Given the description of an element on the screen output the (x, y) to click on. 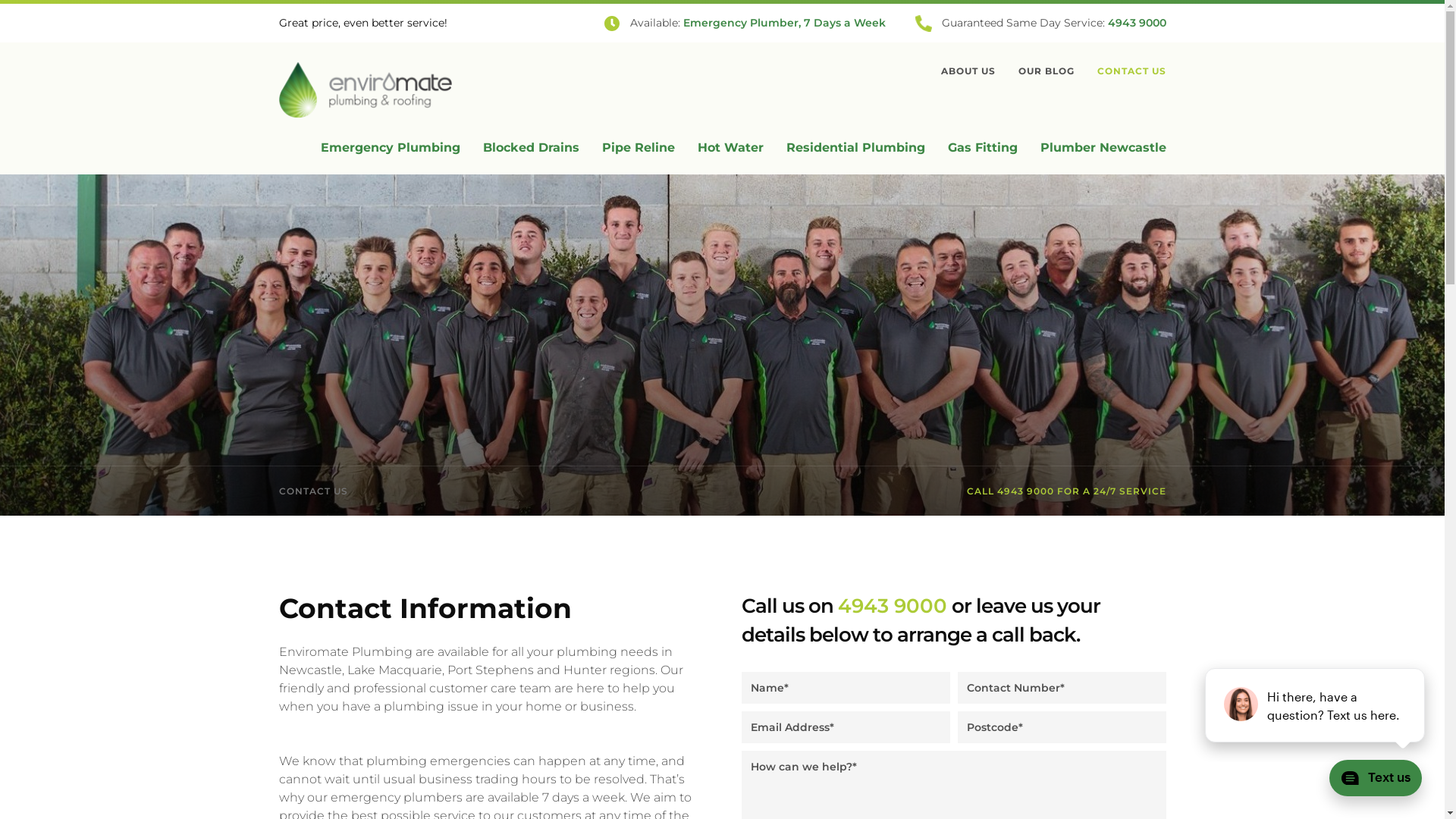
Hot Water Element type: text (730, 147)
OUR BLOG Element type: text (1045, 70)
Gas Fitting Element type: text (982, 147)
4943 9000 Element type: text (891, 605)
Pipe Reline Element type: text (638, 147)
ABOUT US Element type: text (967, 70)
CONTACT US Element type: text (313, 490)
podium webchat widget prompt Element type: hover (1315, 705)
4943 9000 Element type: text (1136, 22)
Emergency Plumbing Element type: text (389, 147)
Plumber Newcastle Element type: text (1103, 147)
CALL 4943 9000 FOR A 24/7 SERVICE Element type: text (1065, 490)
Blocked Drains Element type: text (530, 147)
Residential Plumbing Element type: text (854, 147)
CONTACT US Element type: text (1130, 70)
